Given the description of an element on the screen output the (x, y) to click on. 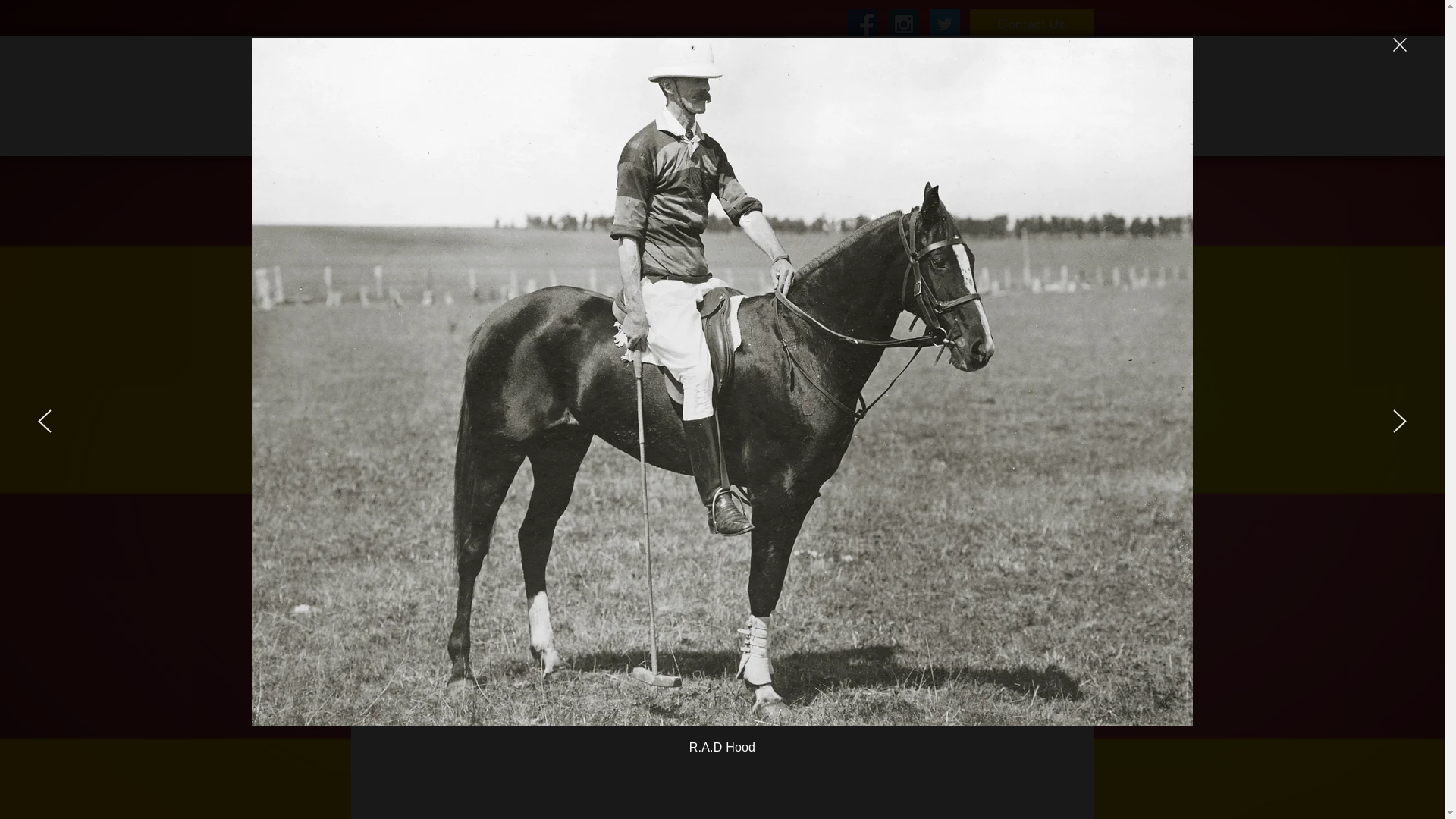
MEMBERSHIP Element type: text (599, 127)
Contact Us Element type: text (1031, 24)
Embedded Content Element type: hover (441, 100)
GALLERY Element type: text (1040, 127)
External Vimeo Element type: hover (719, 366)
THE DRAW Element type: text (932, 127)
